Given the description of an element on the screen output the (x, y) to click on. 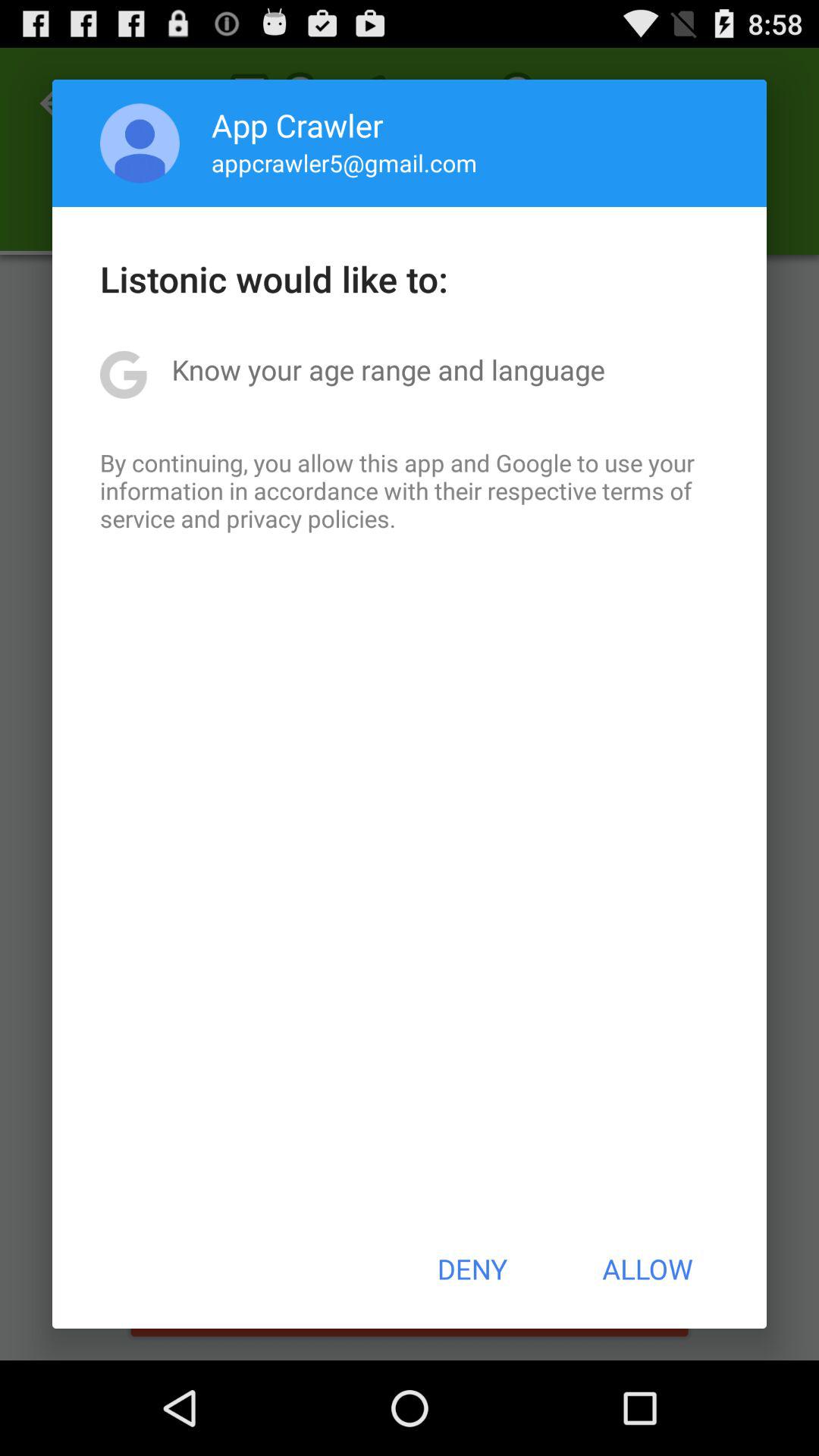
select icon below the by continuing you icon (471, 1268)
